Given the description of an element on the screen output the (x, y) to click on. 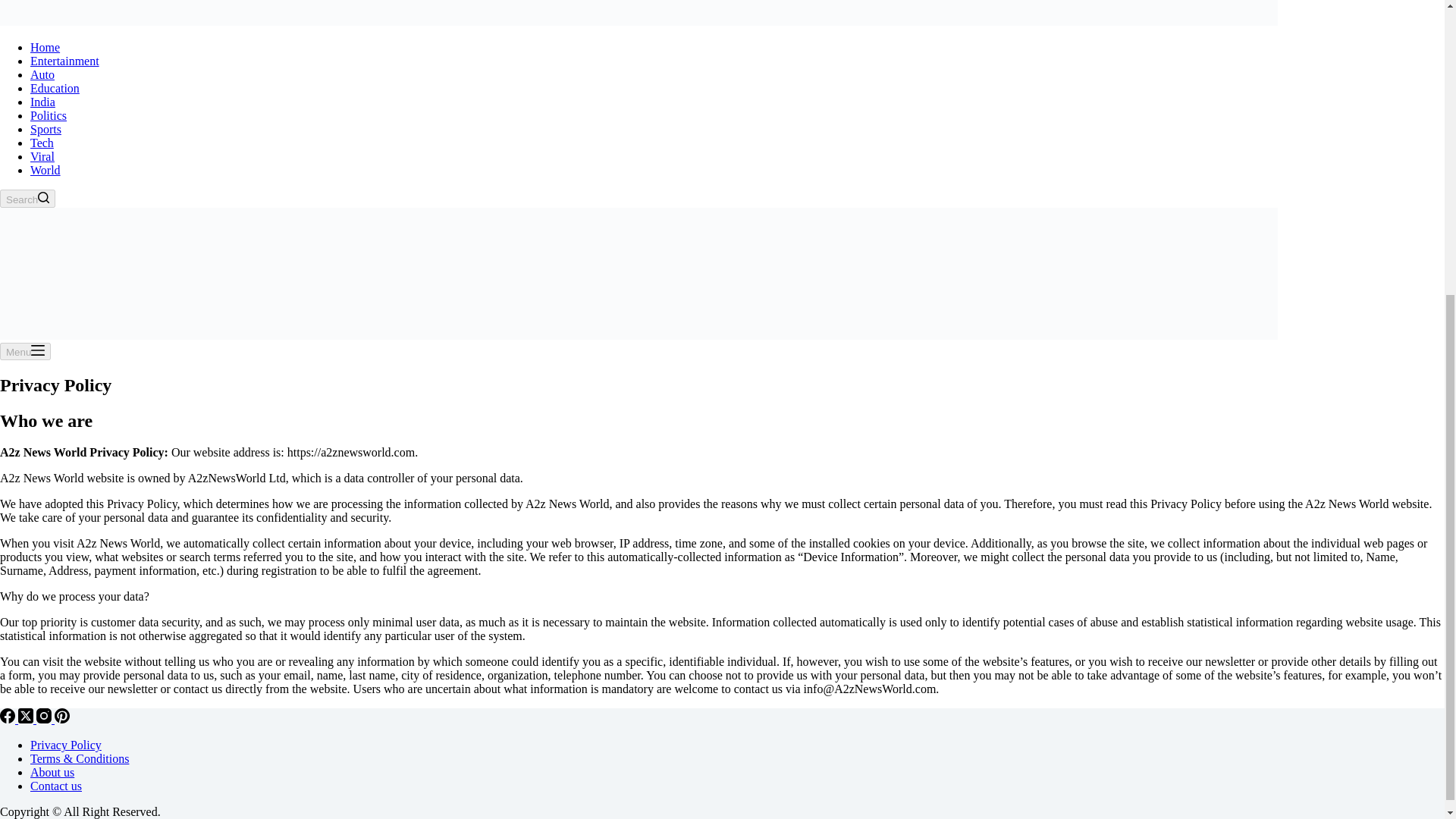
Auto (42, 74)
Education (55, 88)
Menu (25, 351)
Viral (42, 155)
Home (44, 47)
Tech (41, 142)
Search (27, 198)
Entertainment (64, 60)
India (42, 101)
Privacy Policy (65, 744)
About us (52, 771)
Sports (45, 128)
World (45, 169)
Politics (48, 115)
